Given the description of an element on the screen output the (x, y) to click on. 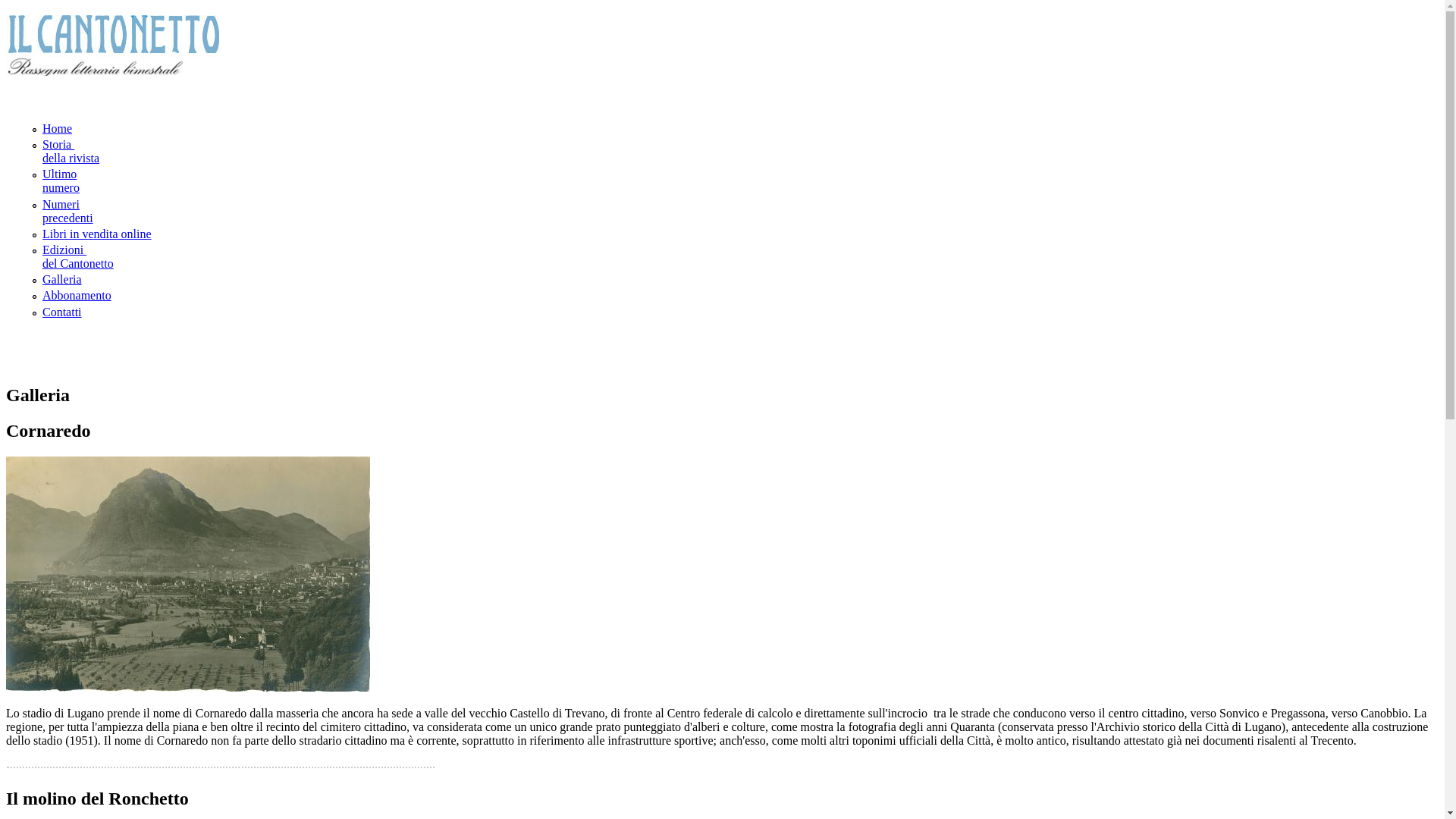
Edizioni 
del Cantonetto Element type: text (77, 256)
Numeri
precedenti Element type: text (67, 210)
Home Element type: hover (112, 69)
Storia 
della rivista Element type: text (70, 151)
Libri in vendita online Element type: text (96, 233)
Ultimo
numero Element type: text (60, 180)
Contatti Element type: text (61, 310)
Galleria Element type: text (61, 279)
Home Element type: text (57, 128)
Abbonamento Element type: text (76, 294)
